Given the description of an element on the screen output the (x, y) to click on. 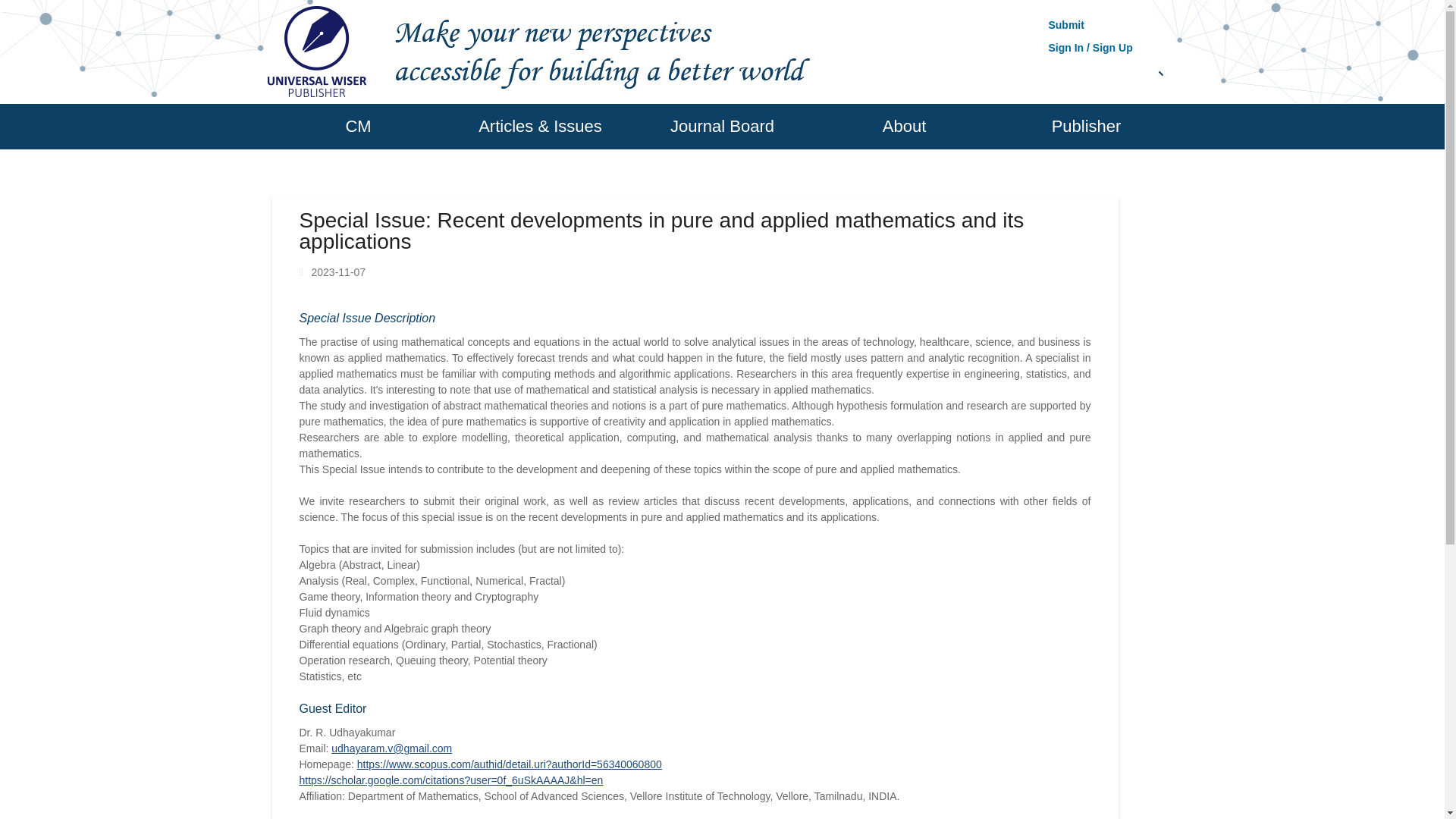
About (903, 126)
Journal Board (721, 126)
Submit (1065, 24)
Publisher (1085, 126)
CM (357, 126)
